Given the description of an element on the screen output the (x, y) to click on. 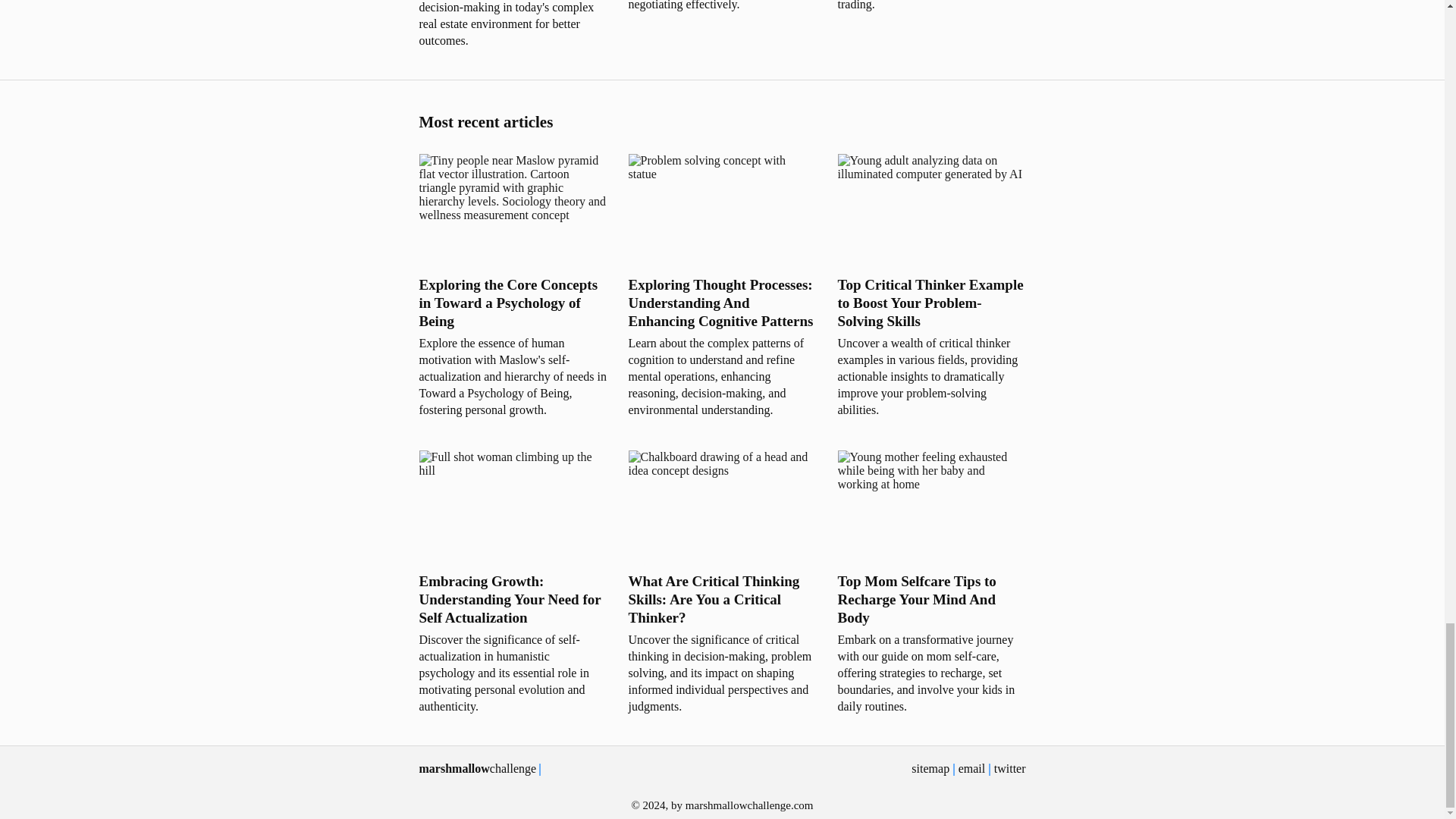
sitemap (930, 768)
email (971, 768)
twitter (1010, 768)
